Given the description of an element on the screen output the (x, y) to click on. 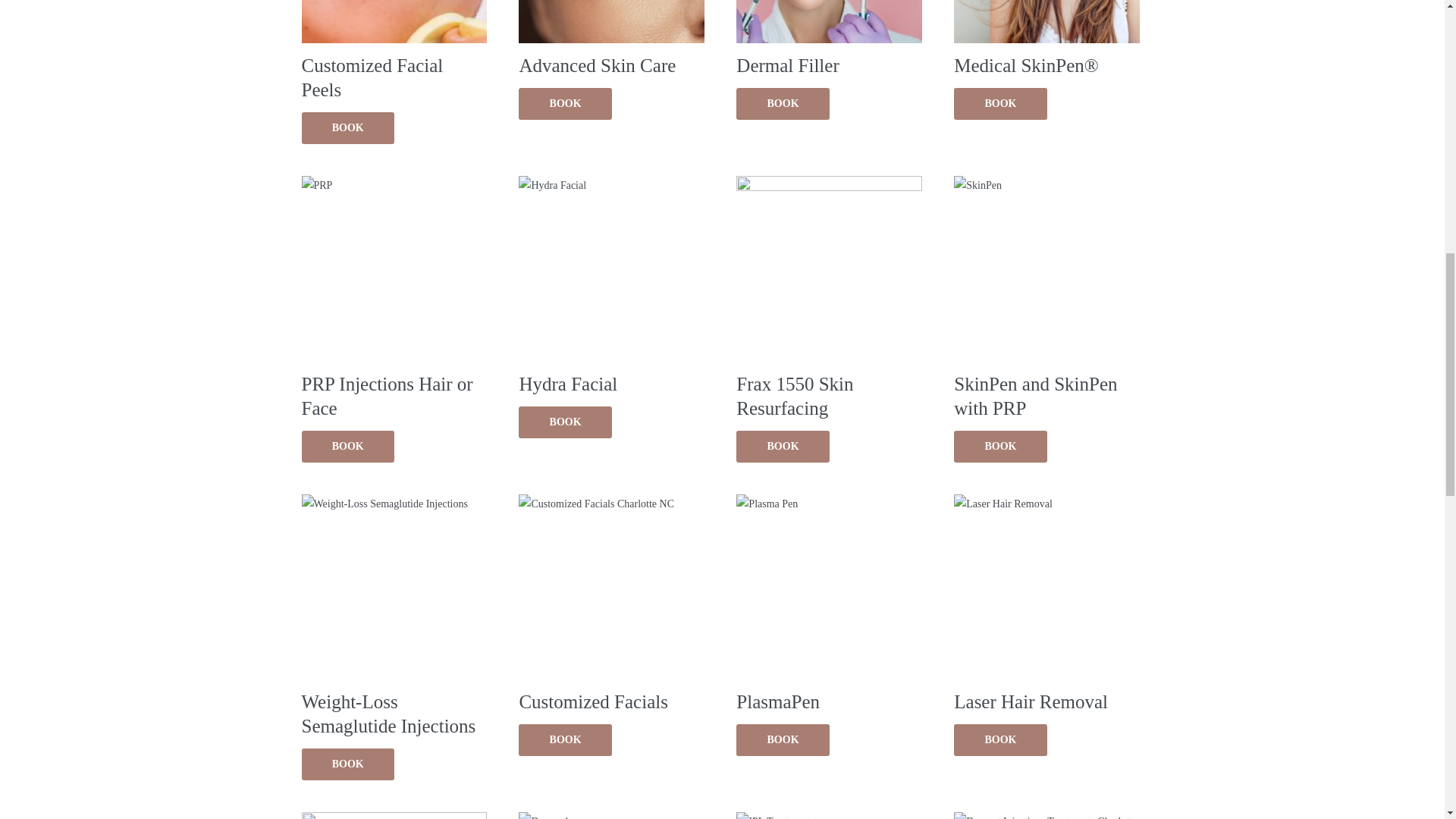
Advanced Skin Care (611, 42)
BOOK (347, 128)
Customized Facial Peels (394, 54)
